Given the description of an element on the screen output the (x, y) to click on. 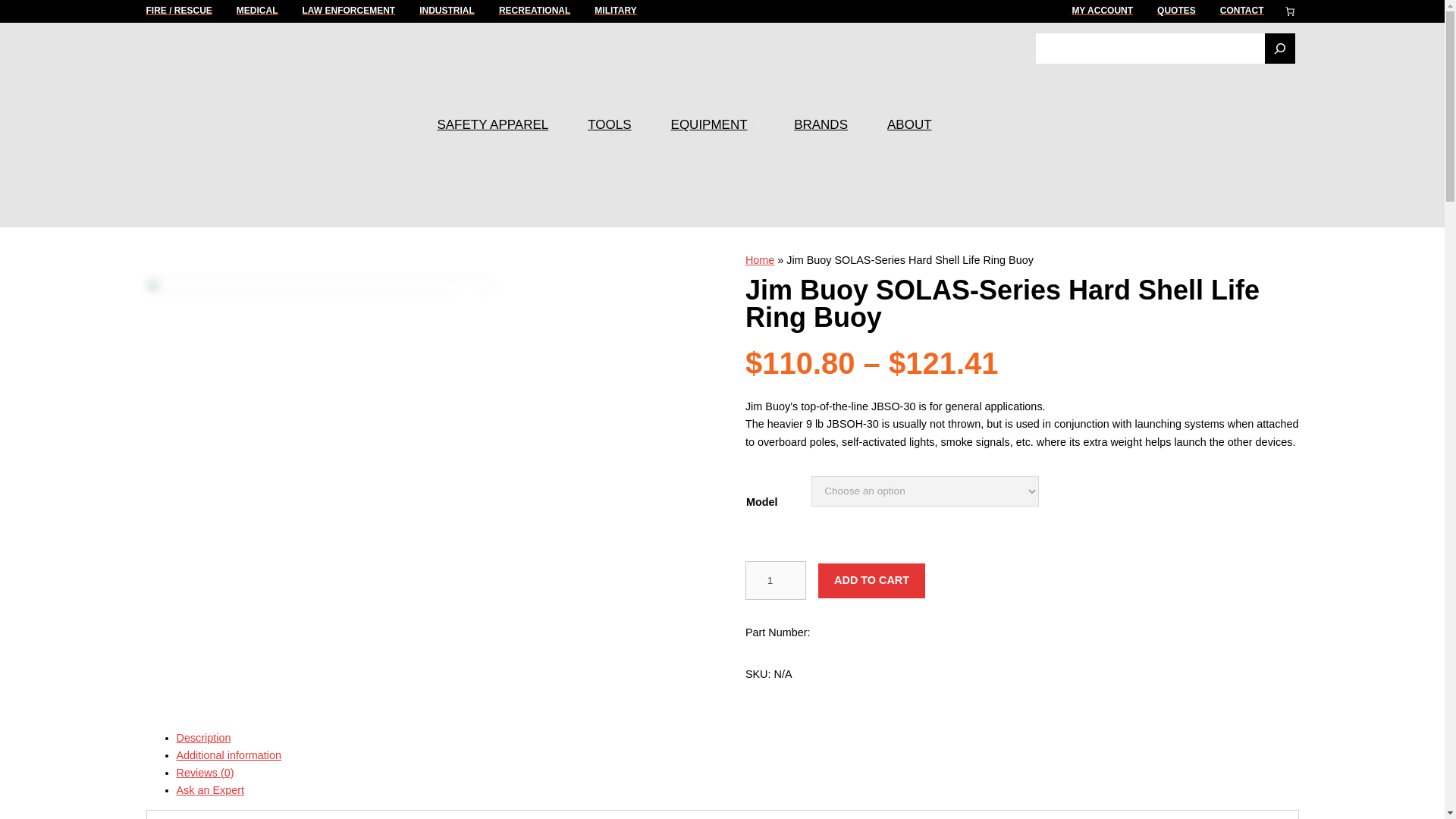
EQUIPMENT (709, 124)
CONTACT (1241, 11)
TOOLS (609, 124)
ADD TO CART (871, 580)
RECREATIONAL (534, 11)
INDUSTRIAL (446, 11)
BRANDS (821, 124)
MILITARY (615, 11)
LAW ENFORCEMENT (349, 11)
ABOUT (909, 124)
QUOTES (1176, 11)
MEDICAL (256, 11)
Home (759, 259)
MY ACCOUNT (1101, 11)
SAFETY APPAREL (492, 124)
